Given the description of an element on the screen output the (x, y) to click on. 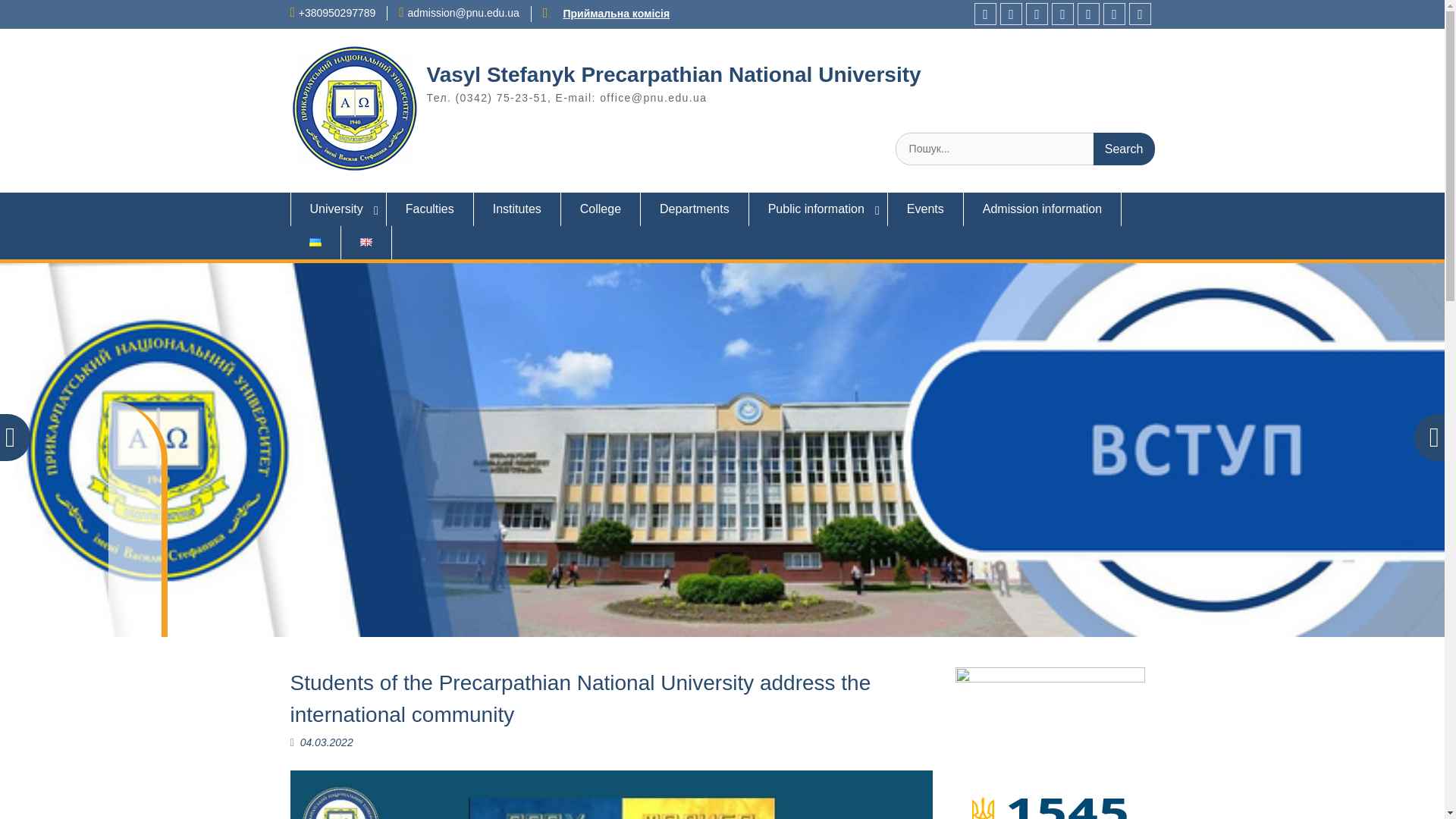
facebook (984, 14)
Search for: (1024, 148)
Faculties (430, 209)
Departments (694, 209)
Search (1123, 148)
Institutes (517, 209)
Events (925, 209)
Admission information (1042, 209)
YouTube (1037, 14)
Search (1123, 148)
